Given the description of an element on the screen output the (x, y) to click on. 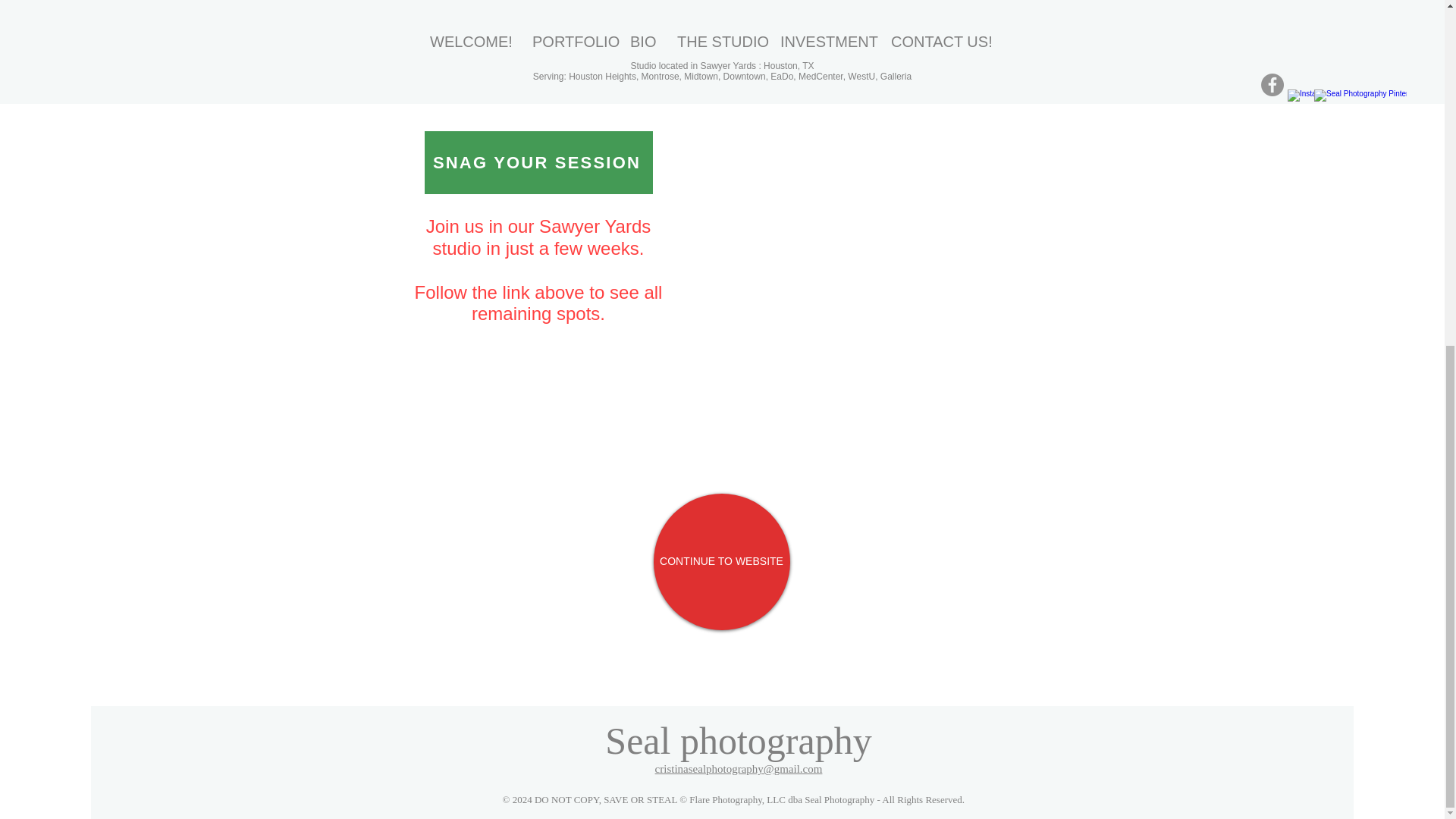
CONTINUE TO WEBSITE (721, 561)
SNAG YOUR SESSION (538, 162)
